Given the description of an element on the screen output the (x, y) to click on. 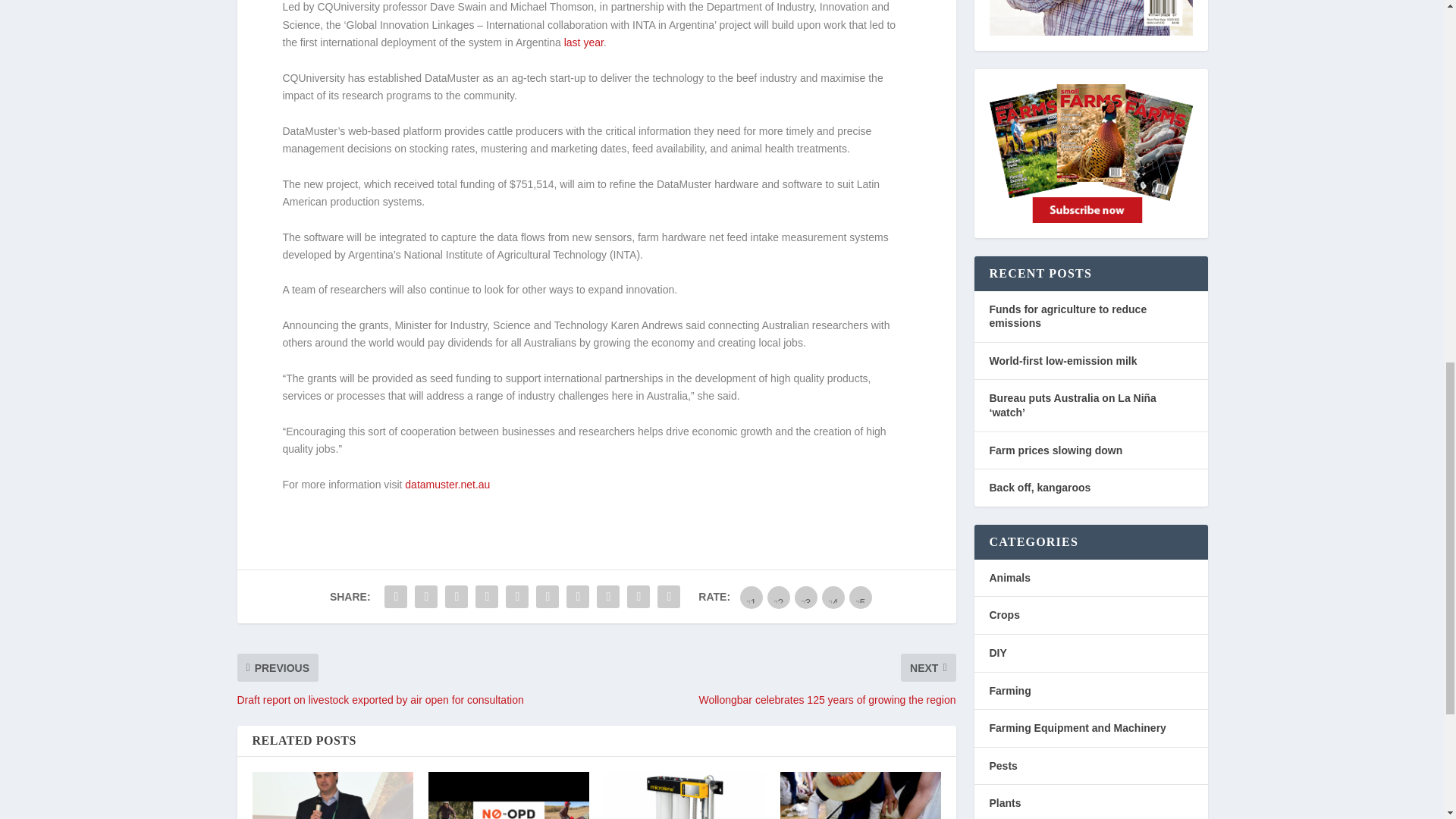
last year (584, 42)
datamuster.net.au (446, 484)
